Given the description of an element on the screen output the (x, y) to click on. 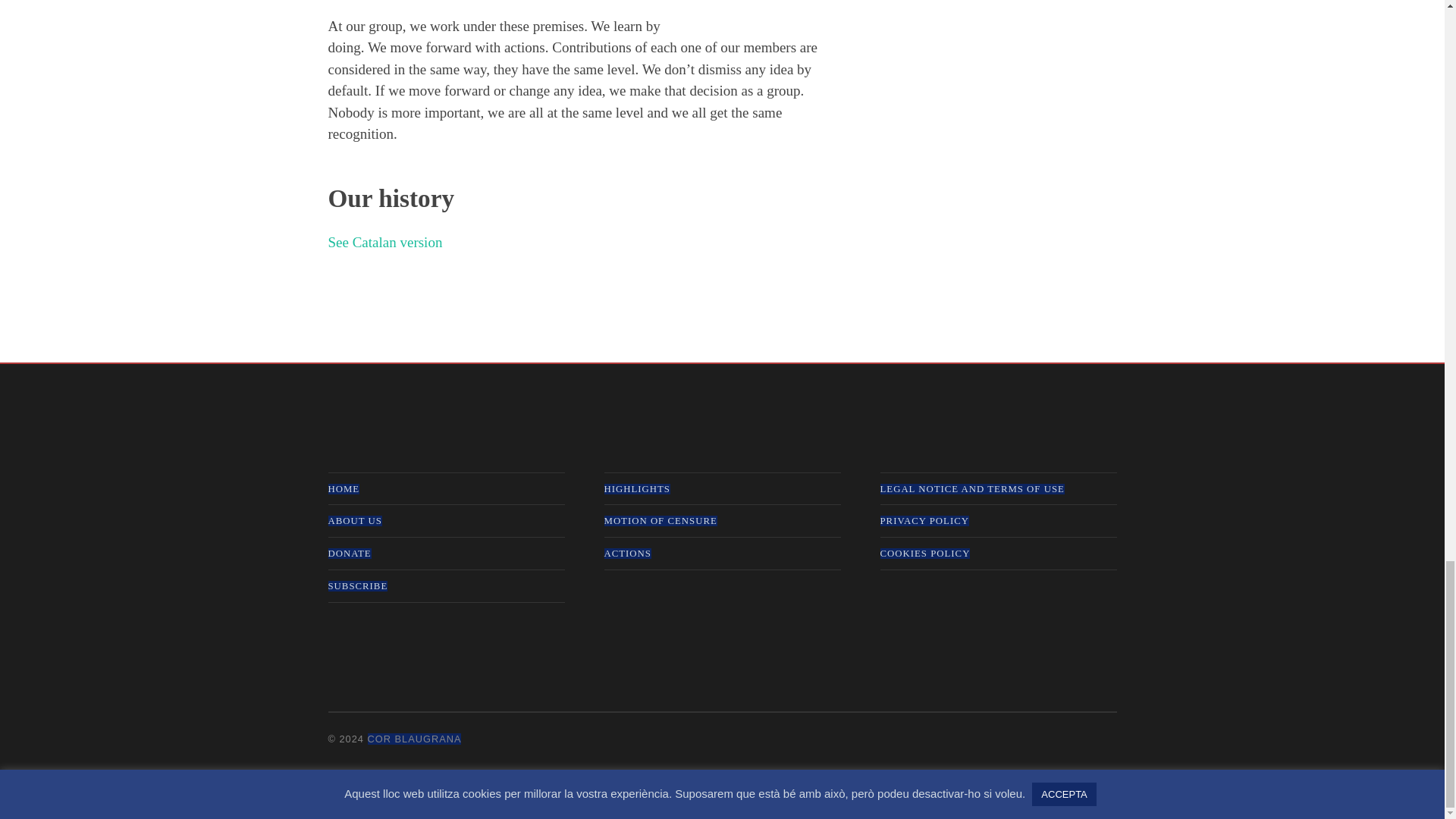
See Catalan version (384, 242)
